Given the description of an element on the screen output the (x, y) to click on. 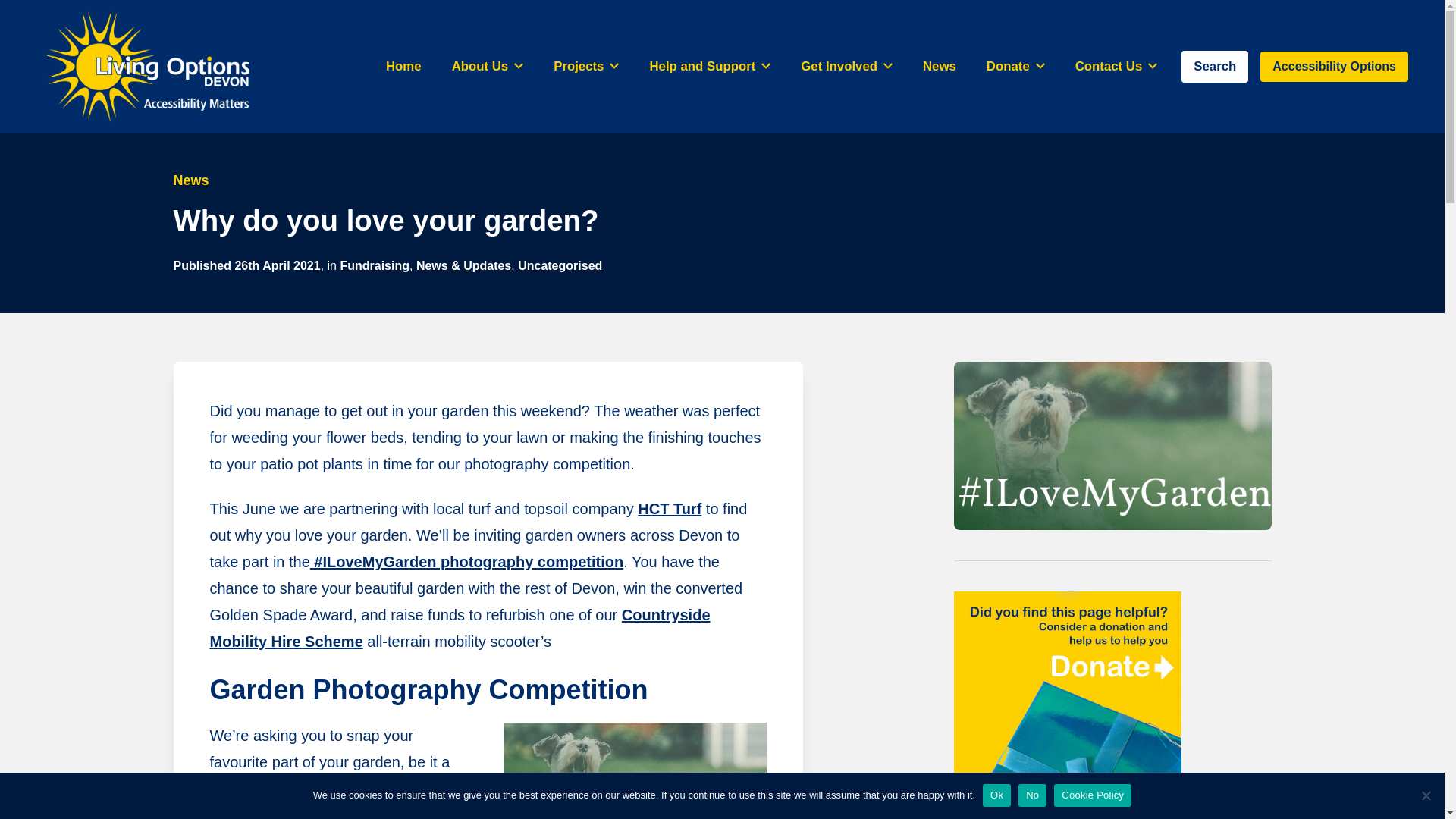
Get Involved (846, 66)
About Us (487, 66)
No (1425, 795)
Search (1213, 65)
News (939, 66)
Projects (585, 66)
Contact Us (1116, 66)
Home (403, 66)
Help and Support (710, 66)
Skip to main content (5, 5)
Donate (1015, 66)
